Given the description of an element on the screen output the (x, y) to click on. 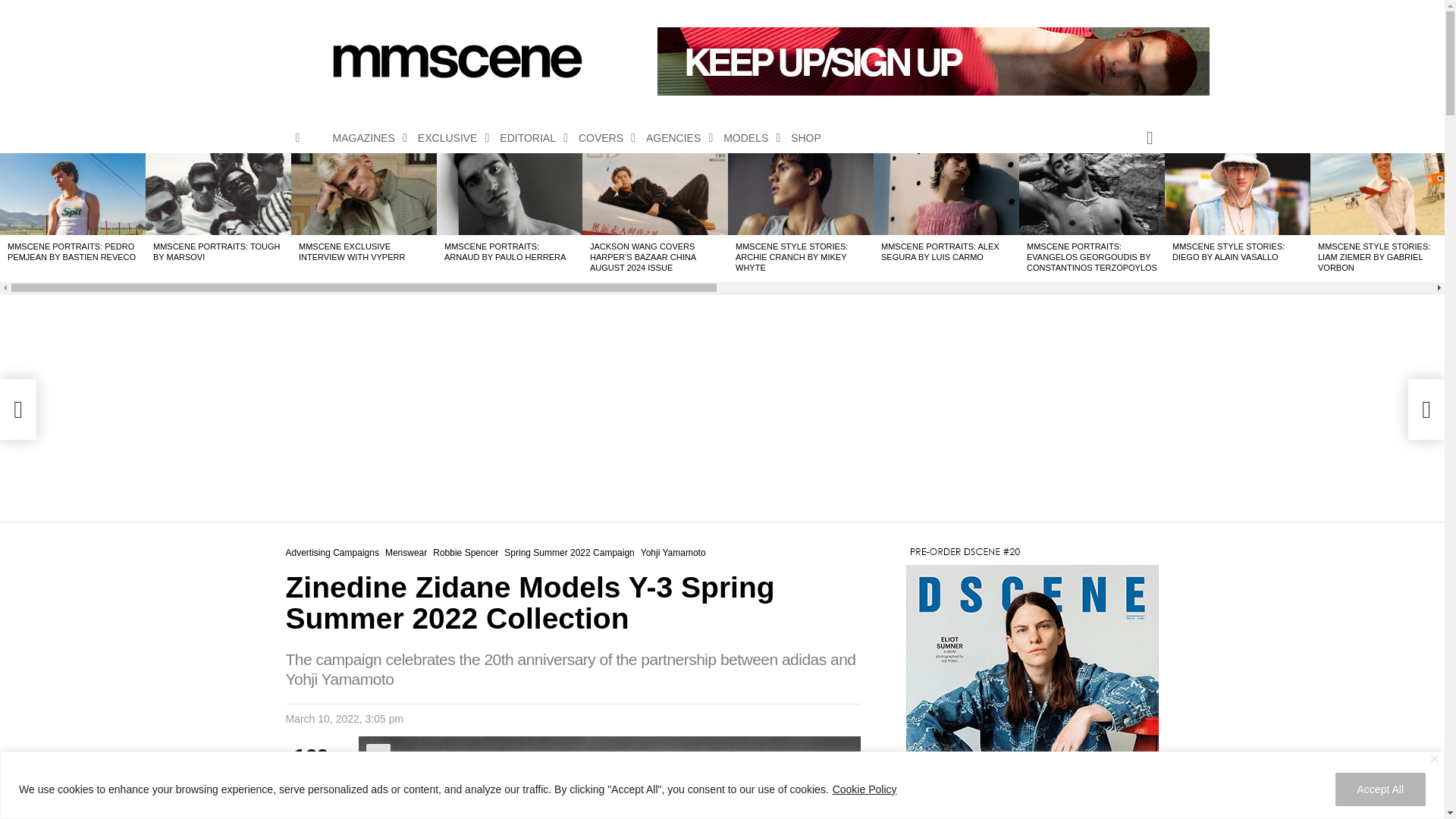
Accept All (1380, 788)
MAGAZINES (365, 137)
MMSCENE PORTRAITS: Pedro Pemjean by Bastien Reveco (72, 194)
Cookie Policy (864, 789)
Menu (296, 137)
MMSCENE Exclusive Interview with VYPERR (363, 194)
MMSCENE PORTRAITS: Tough by Marsovi (218, 194)
EXCLUSIVE (449, 137)
COVERS (602, 137)
EDITORIAL (529, 137)
